Given the description of an element on the screen output the (x, y) to click on. 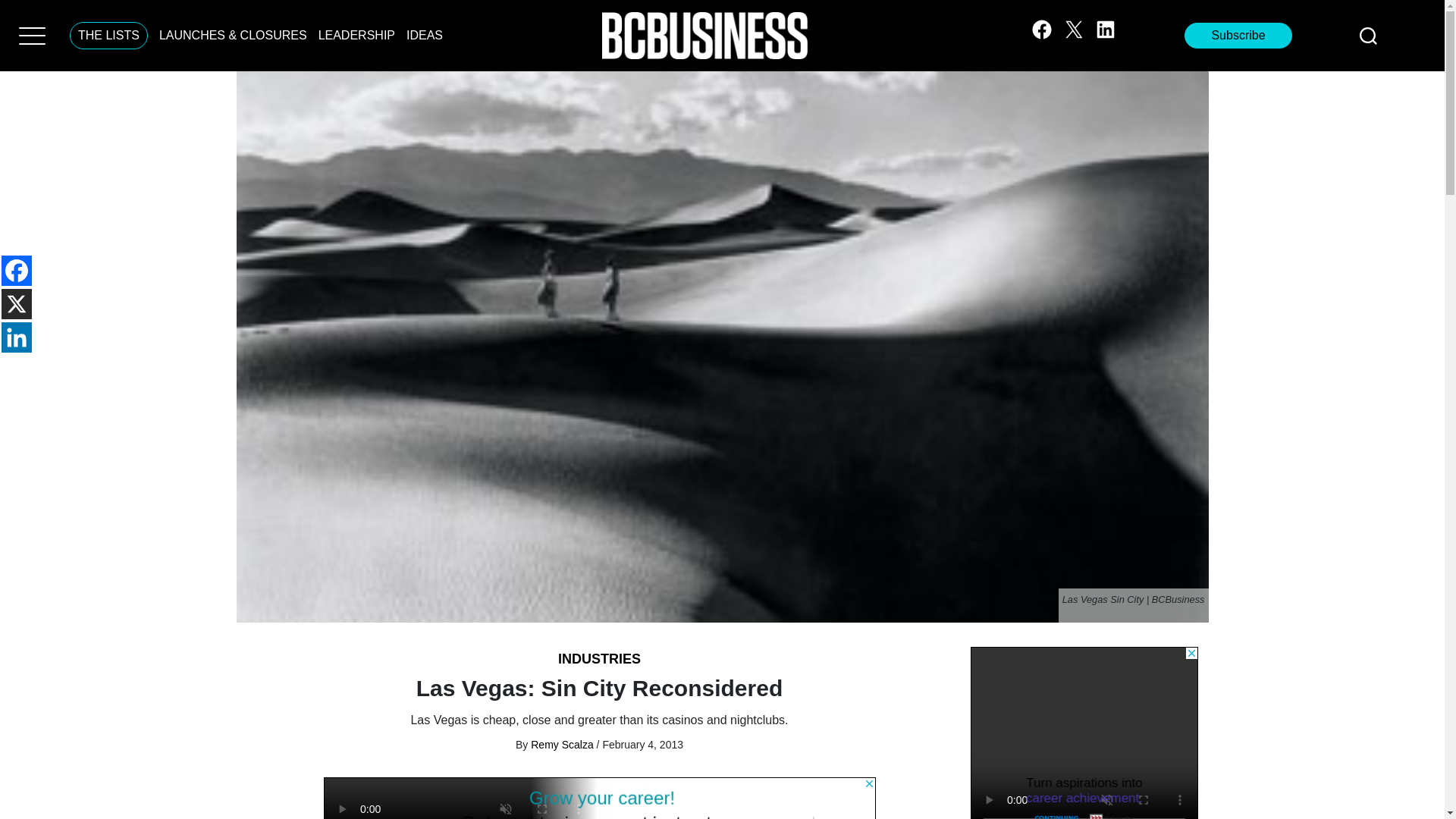
3rd party ad content (599, 798)
3rd party ad content (1084, 733)
Facebook (16, 270)
Linkedin (16, 337)
X (16, 304)
